Given the description of an element on the screen output the (x, y) to click on. 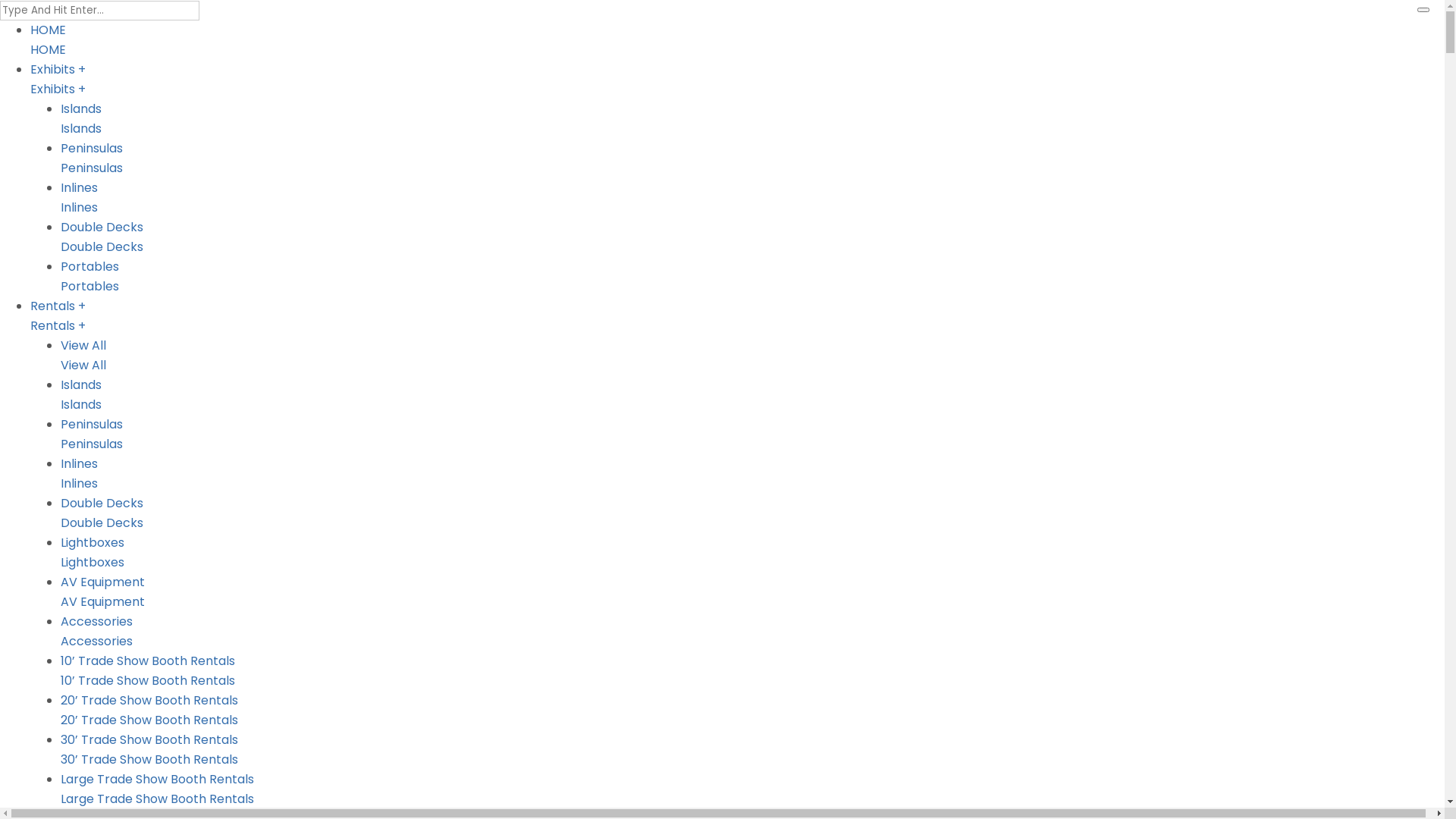
Double Decks
Double Decks Element type: text (752, 237)
Islands
Islands Element type: text (752, 394)
Portables
Portables Element type: text (752, 276)
Inlines
Inlines Element type: text (752, 473)
Lightboxes
Lightboxes Element type: text (752, 552)
Peninsulas
Peninsulas Element type: text (752, 158)
Accessories
Accessories Element type: text (752, 631)
View All
View All Element type: text (752, 355)
Rentals +
Rentals + Element type: text (737, 315)
AV Equipment
AV Equipment Element type: text (752, 591)
Double Decks
Double Decks Element type: text (752, 513)
Peninsulas
Peninsulas Element type: text (752, 434)
Exhibits +
Exhibits + Element type: text (737, 79)
Inlines
Inlines Element type: text (752, 197)
Islands
Islands Element type: text (752, 118)
HOME
HOME Element type: text (737, 39)
